Given the description of an element on the screen output the (x, y) to click on. 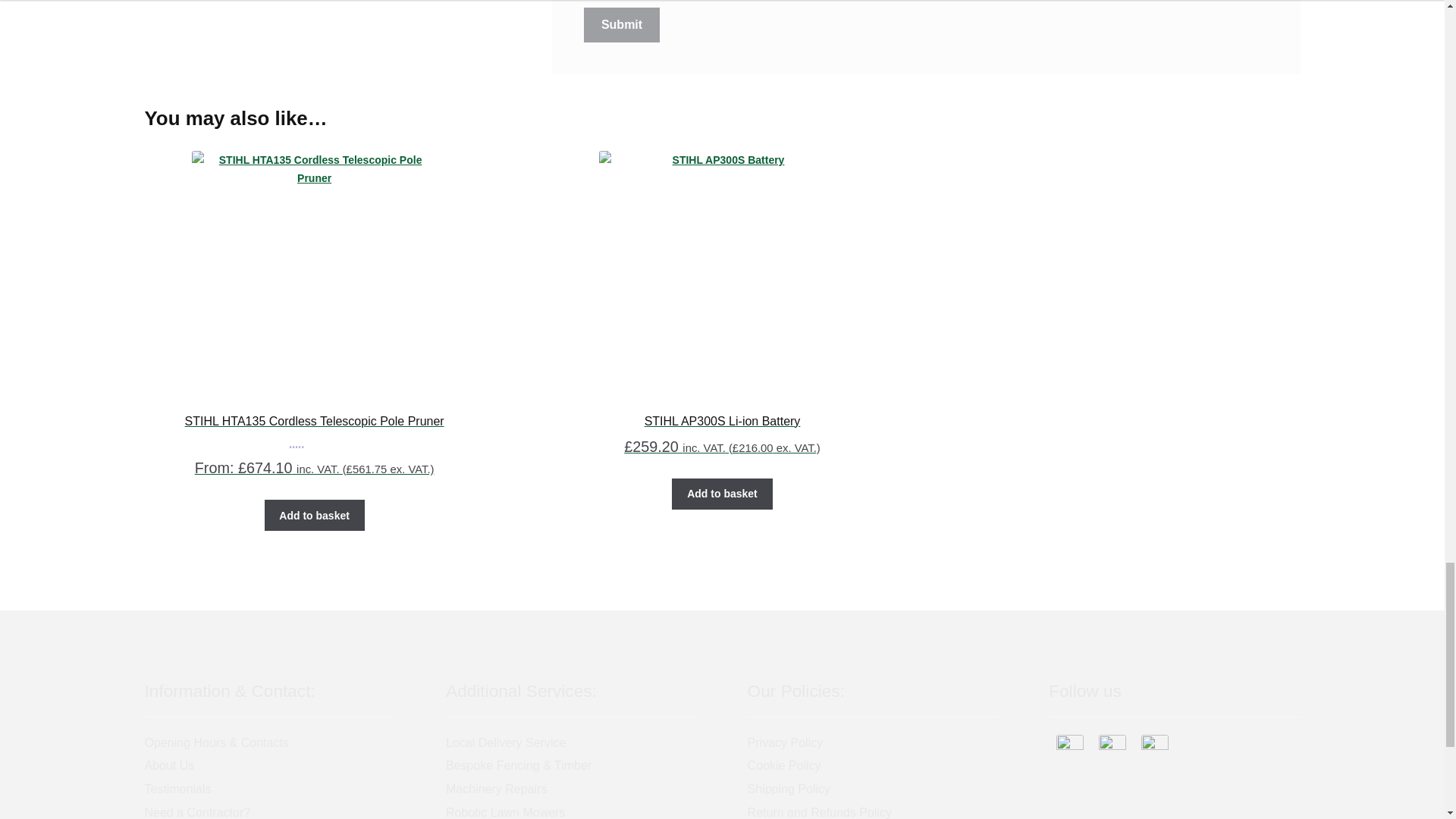
Instagram (1112, 748)
YouTube (1155, 748)
Submit (621, 24)
Facebook (1070, 748)
